Given the description of an element on the screen output the (x, y) to click on. 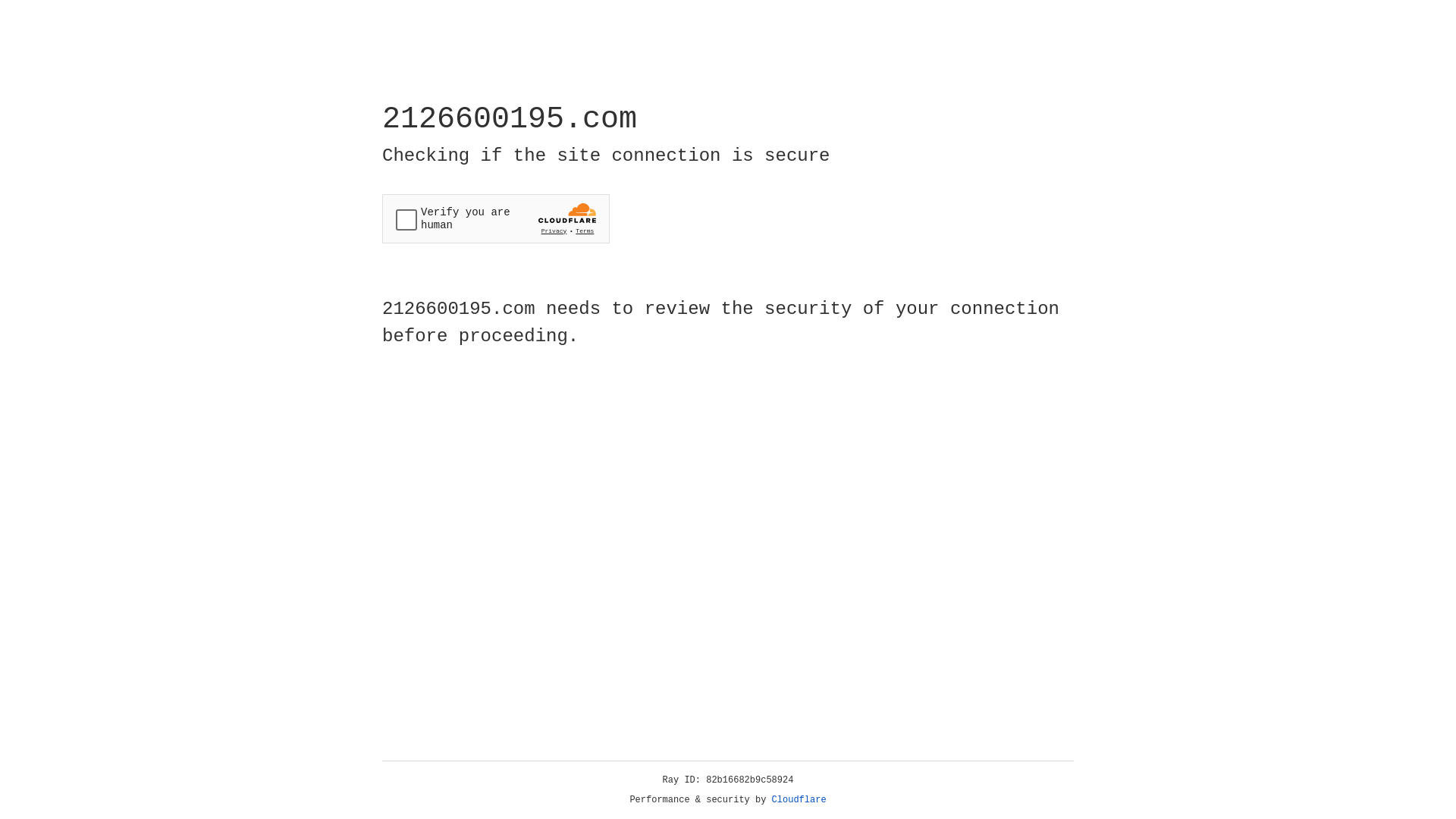
Widget containing a Cloudflare security challenge Element type: hover (495, 218)
Cloudflare Element type: text (798, 799)
